Given the description of an element on the screen output the (x, y) to click on. 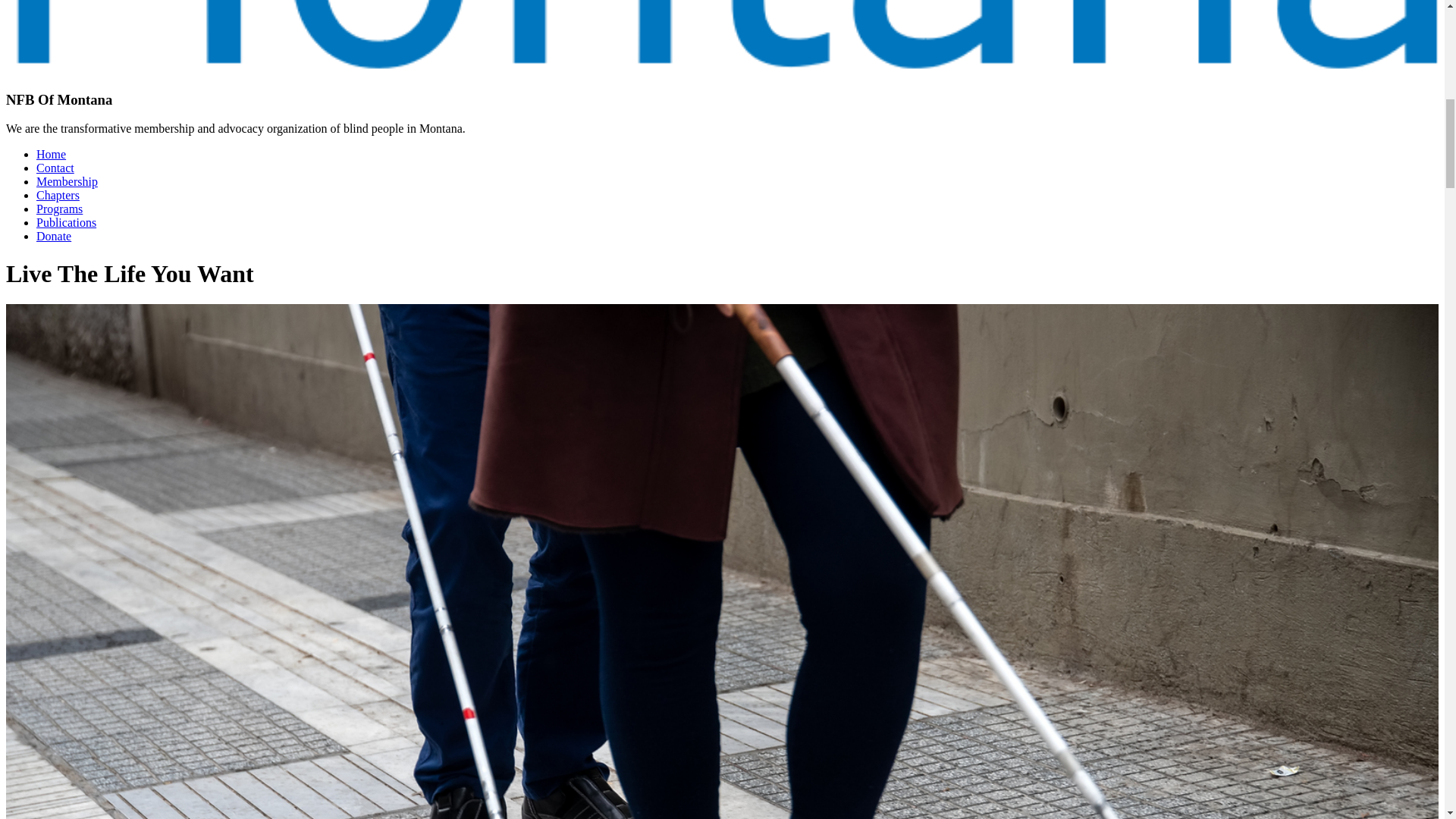
Membership (66, 181)
Chapters (58, 195)
Donate (53, 236)
Home (50, 154)
Publications (66, 222)
Programs (59, 208)
Contact (55, 167)
